Given the description of an element on the screen output the (x, y) to click on. 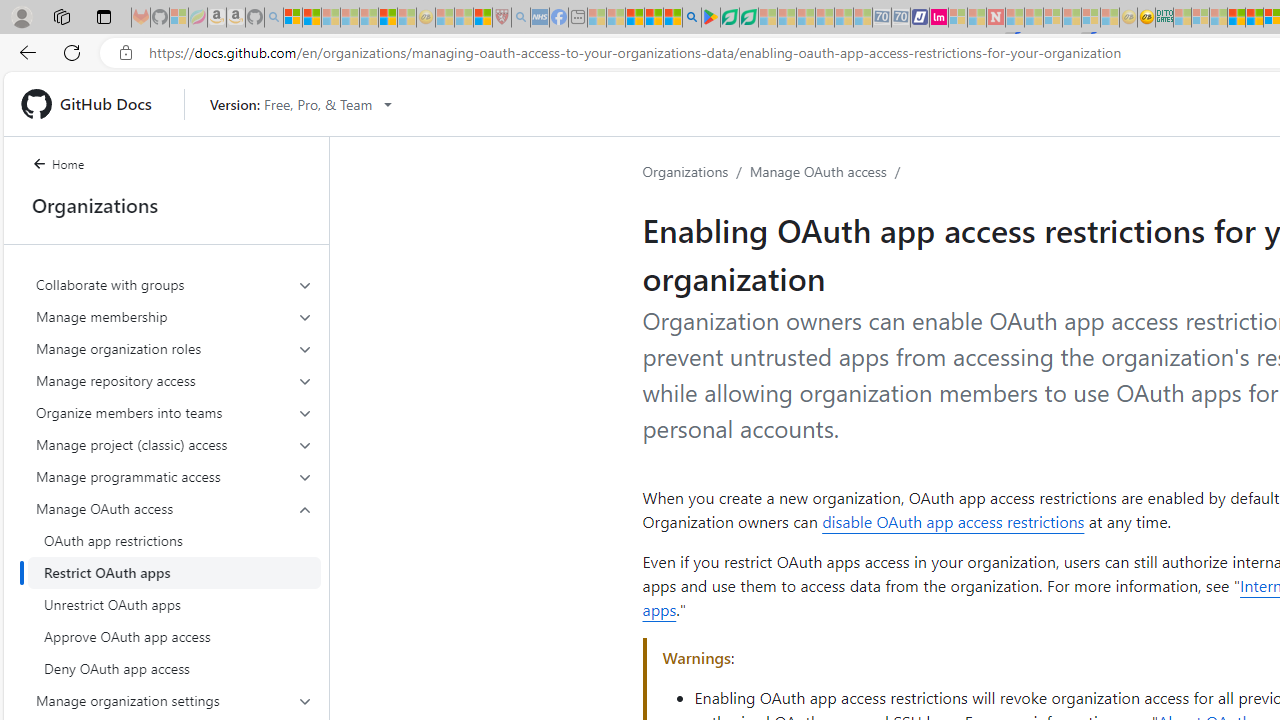
Unrestrict OAuth apps (174, 604)
Manage repository access (174, 380)
Manage organization roles (174, 348)
Collaborate with groups (174, 284)
Jobs - lastminute.com Investor Portal (939, 17)
Approve OAuth app access (174, 636)
